Given the description of an element on the screen output the (x, y) to click on. 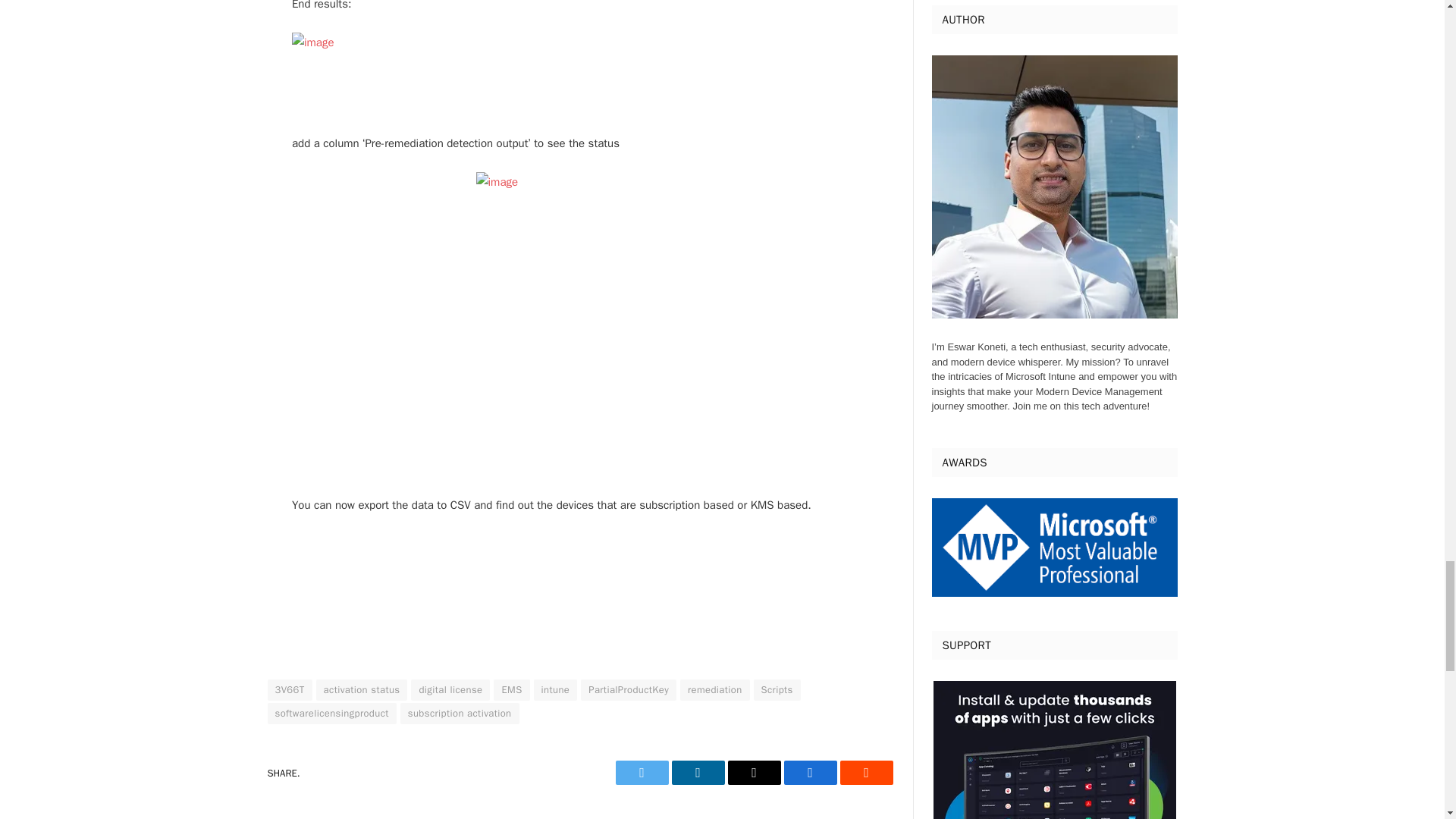
PartialProductKey (628, 690)
intune (556, 690)
activation status (361, 690)
EMS (511, 690)
digital license (449, 690)
3V66T (288, 690)
